Given the description of an element on the screen output the (x, y) to click on. 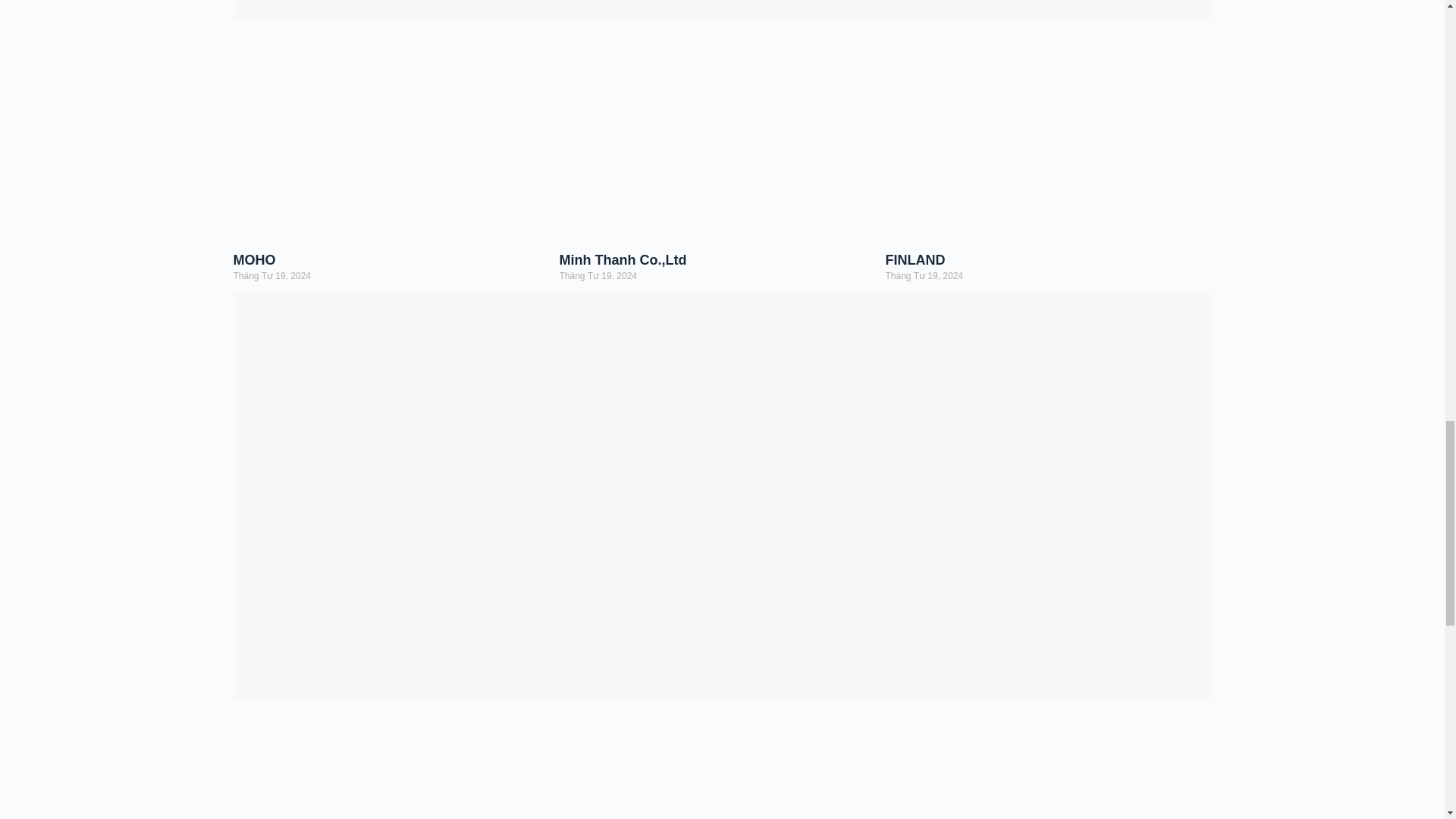
Minh Thanh Co.,Ltd (623, 259)
FINLAND (914, 259)
MOHO (254, 259)
